Given the description of an element on the screen output the (x, y) to click on. 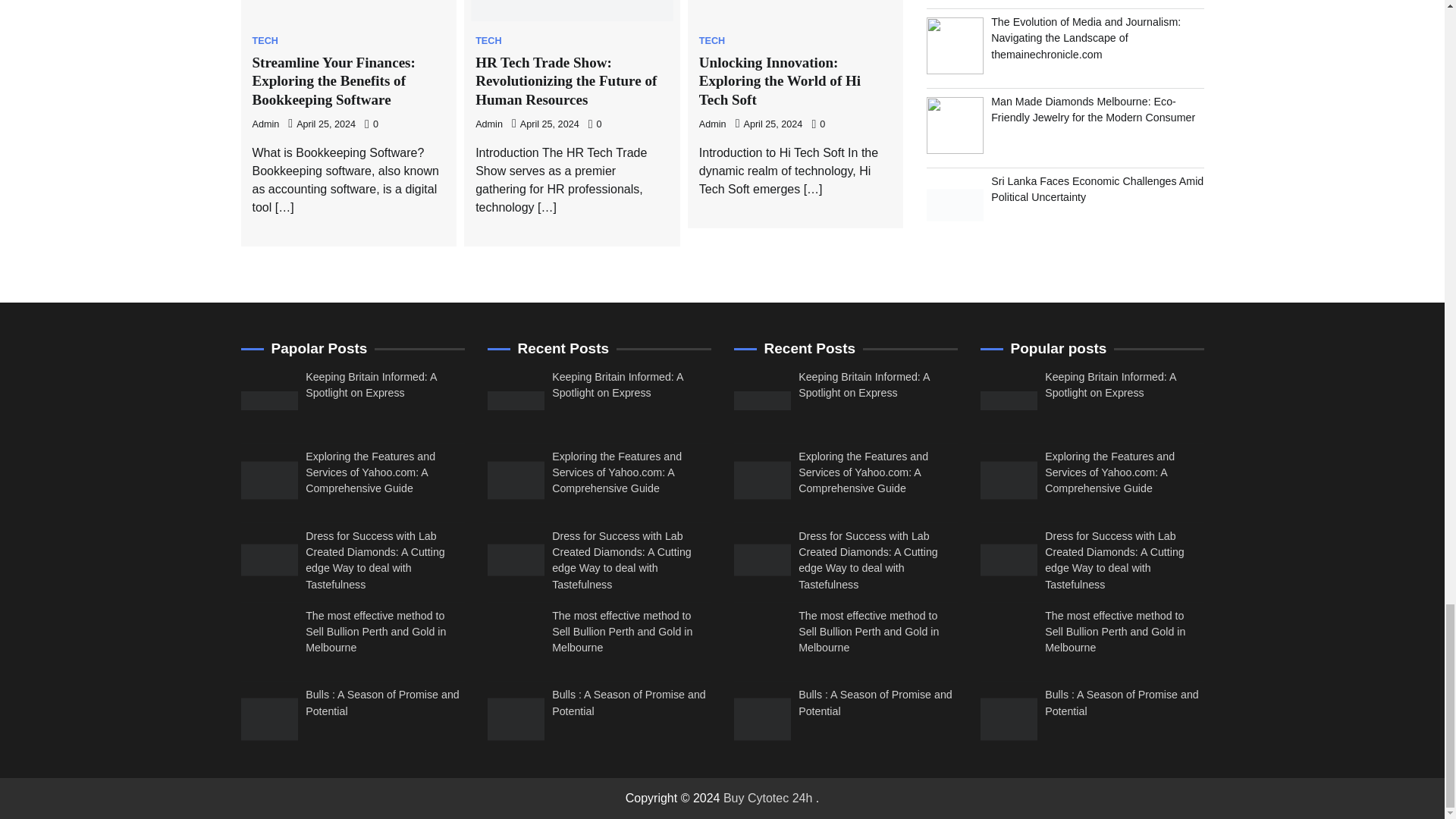
lab created diamonds (1007, 559)
TECH (264, 40)
Admin (712, 123)
Keeping Britain Informed: A Spotlight on Express (370, 384)
TECH (488, 40)
sell gold Melbourne (761, 639)
Admin (265, 123)
TECH (711, 40)
sell gold Melbourne (1007, 639)
lab created diamonds (514, 559)
lab created diamonds (761, 559)
lab created diamonds (269, 559)
sell gold Melbourne (514, 639)
